Given the description of an element on the screen output the (x, y) to click on. 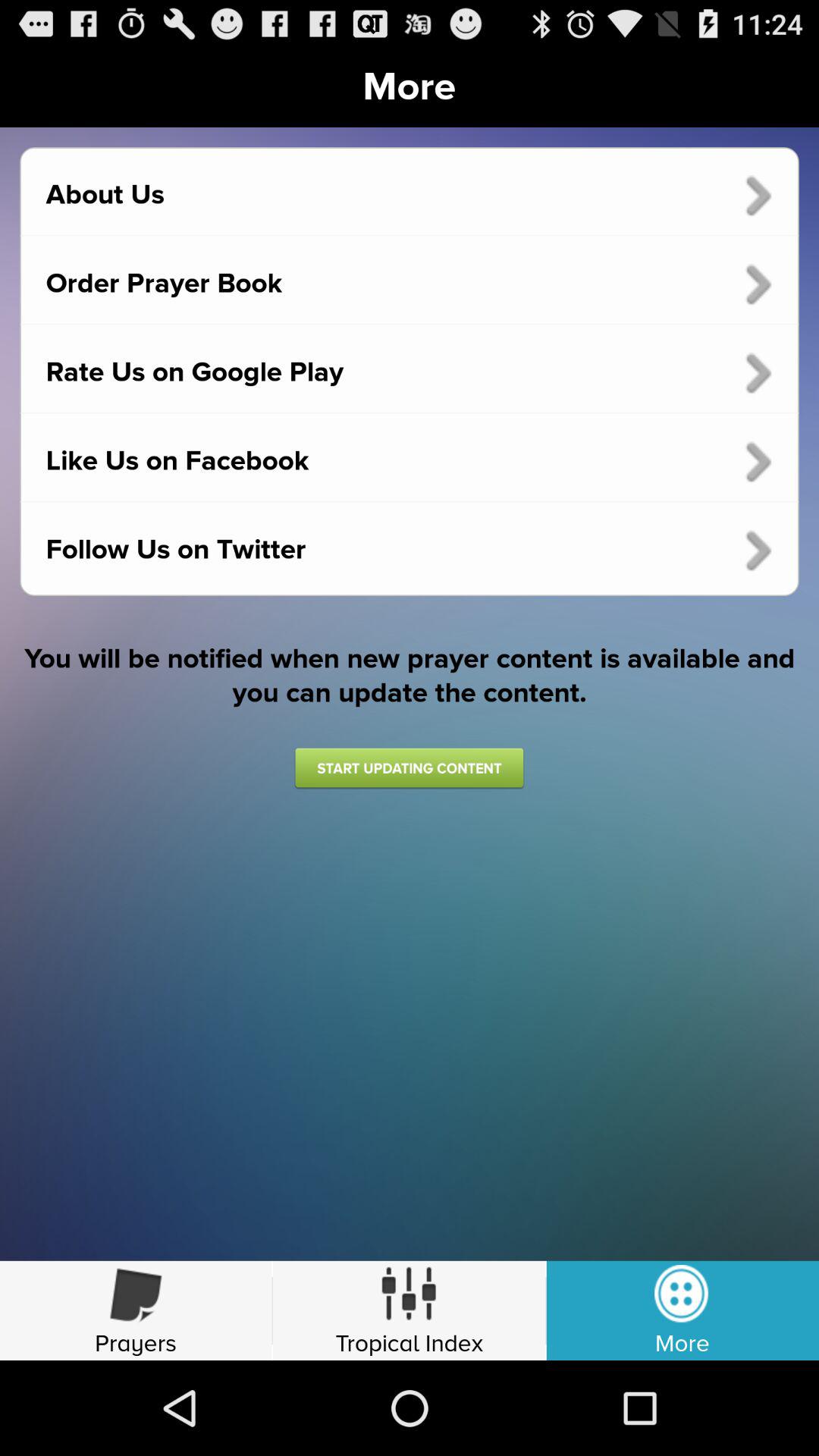
update app content (409, 767)
